Given the description of an element on the screen output the (x, y) to click on. 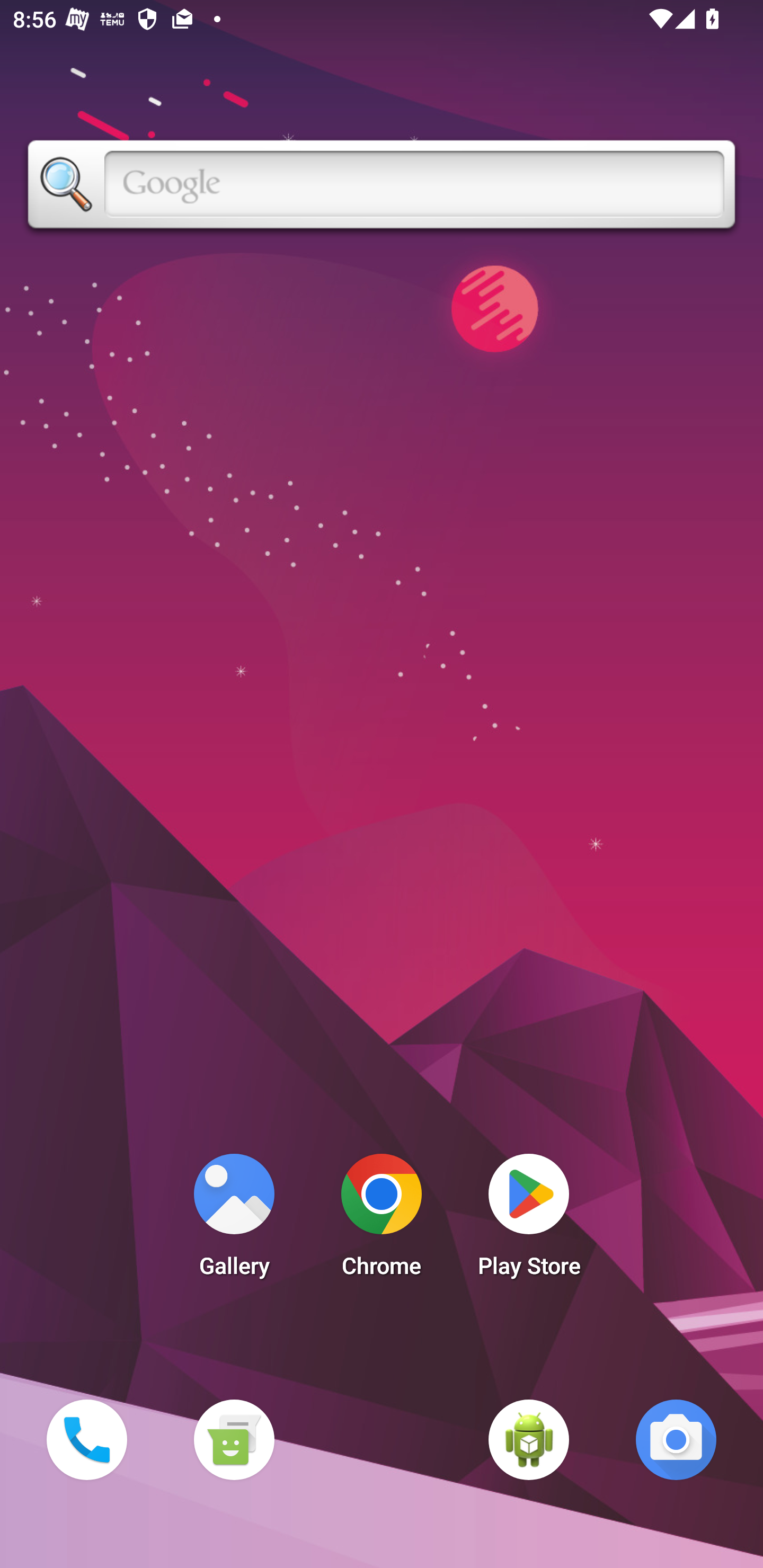
Gallery (233, 1220)
Chrome (381, 1220)
Play Store (528, 1220)
Phone (86, 1439)
Messaging (233, 1439)
WebView Browser Tester (528, 1439)
Camera (676, 1439)
